Given the description of an element on the screen output the (x, y) to click on. 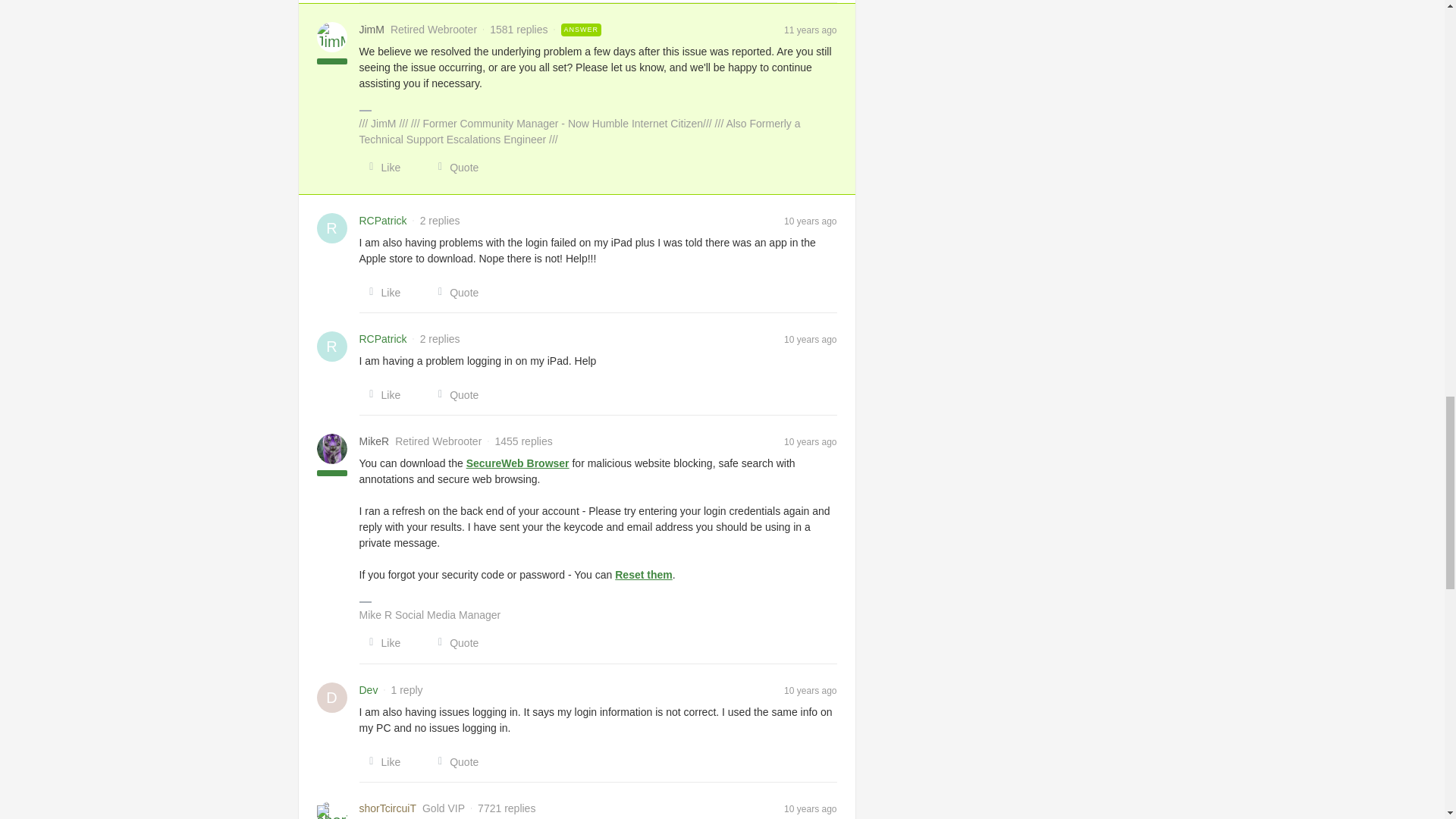
RCPatrick (383, 220)
MikeR (374, 441)
RCPatrick (383, 339)
JimM (371, 29)
